Given the description of an element on the screen output the (x, y) to click on. 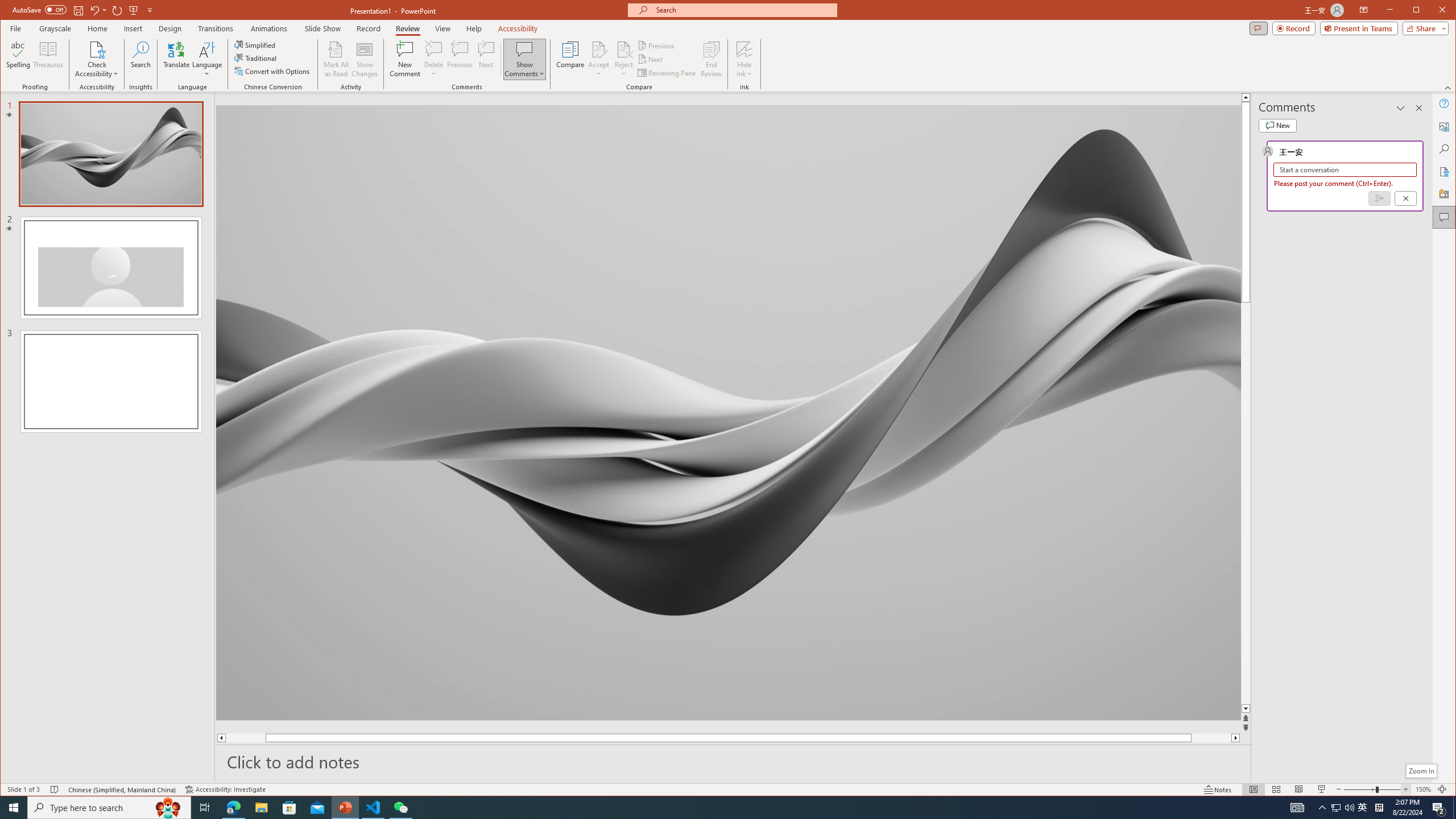
Next (651, 59)
Translate (175, 59)
Grayscale (55, 28)
Traditional (256, 57)
